Given the description of an element on the screen output the (x, y) to click on. 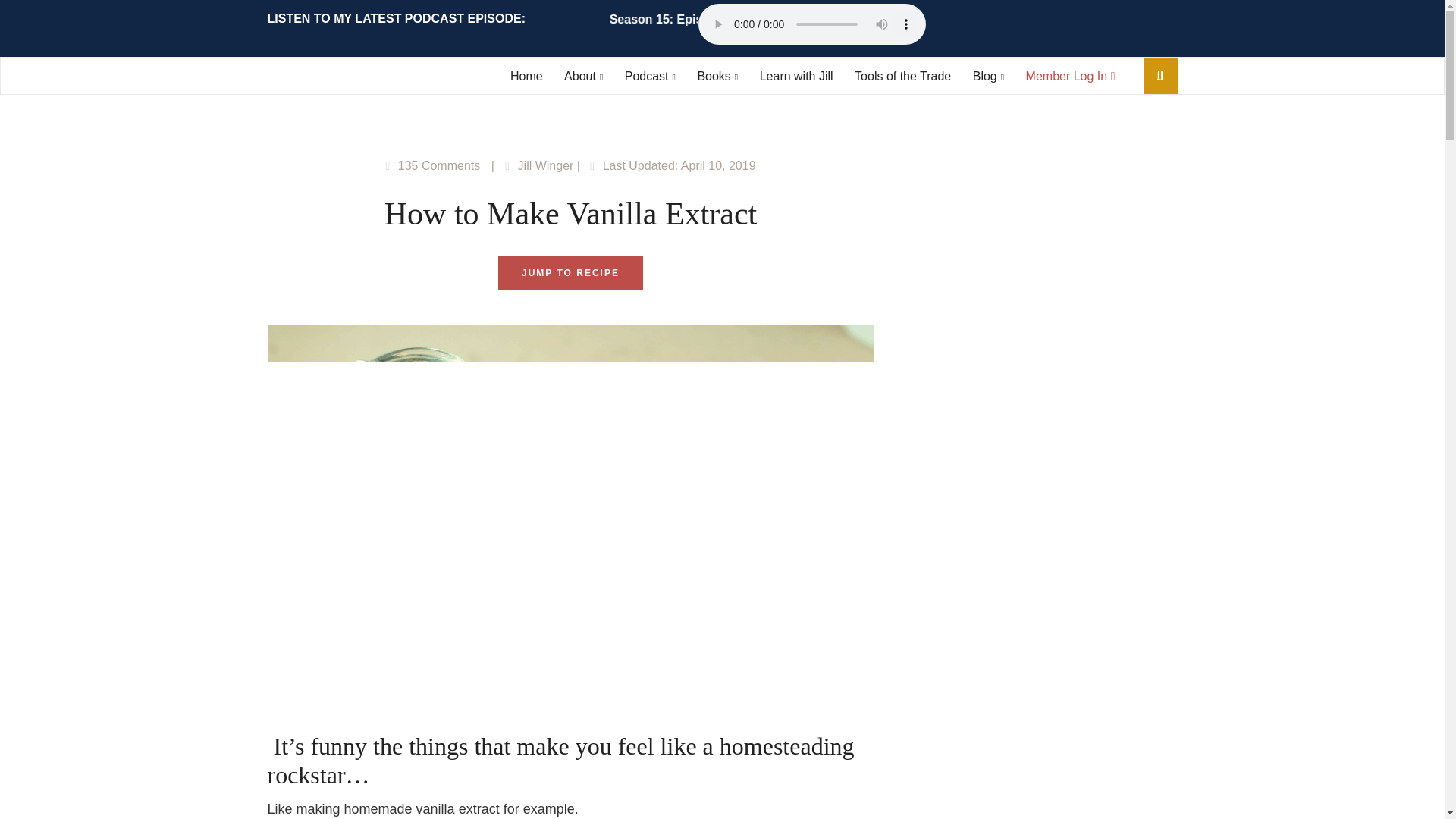
135 Comments (438, 164)
The Prairie Homestead (347, 76)
About (583, 75)
JUMP TO RECIPE (570, 272)
Learn with Jill (796, 75)
Tools of the Trade (902, 75)
Podcast (649, 75)
Books (717, 75)
Jill Winger (545, 164)
Home (527, 75)
JUMP TO RECIPE (570, 272)
Member Log In (1070, 75)
